Given the description of an element on the screen output the (x, y) to click on. 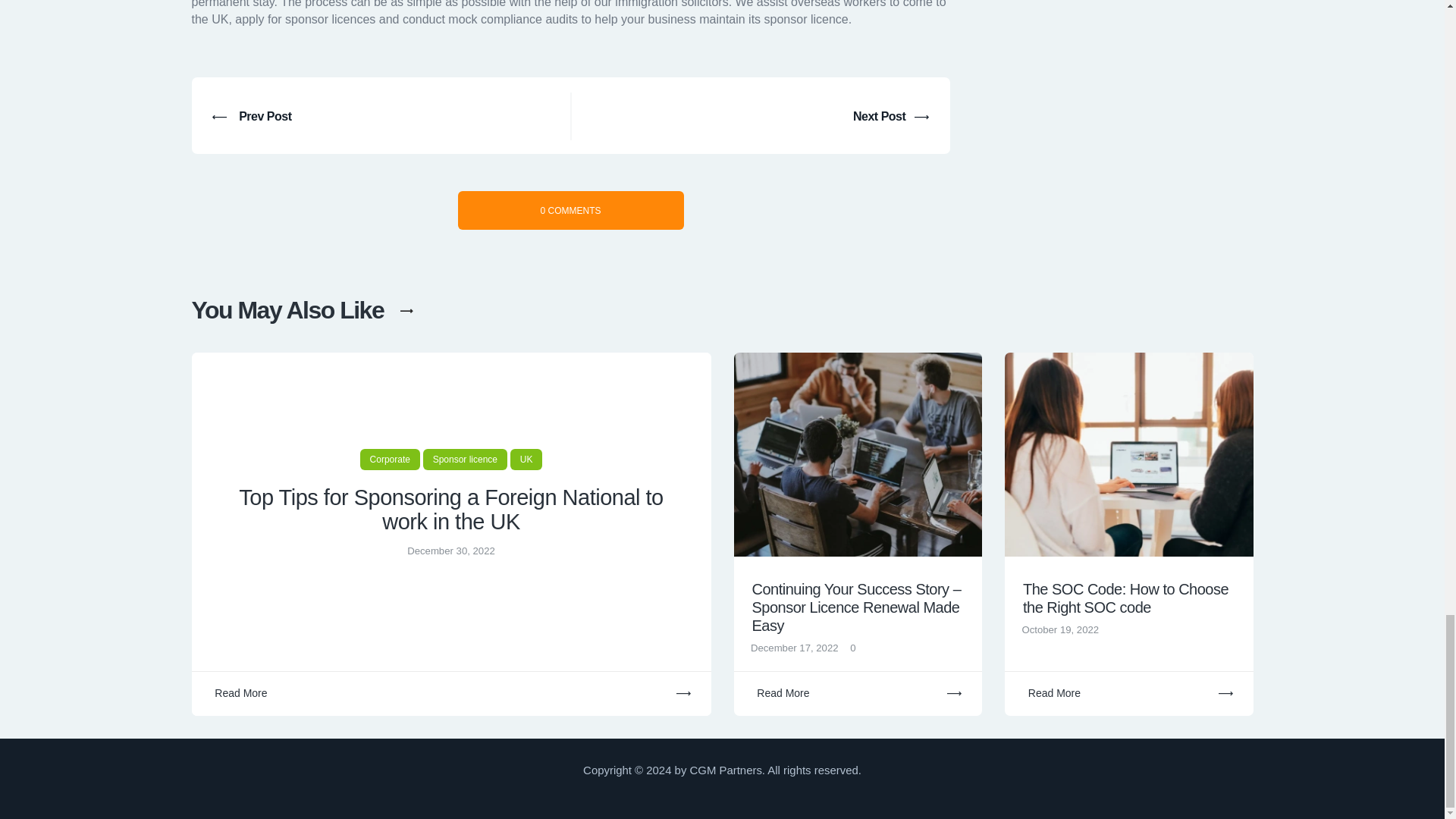
The SOC Code: How to Choose the Right SOC code 4 (1128, 454)
